Given the description of an element on the screen output the (x, y) to click on. 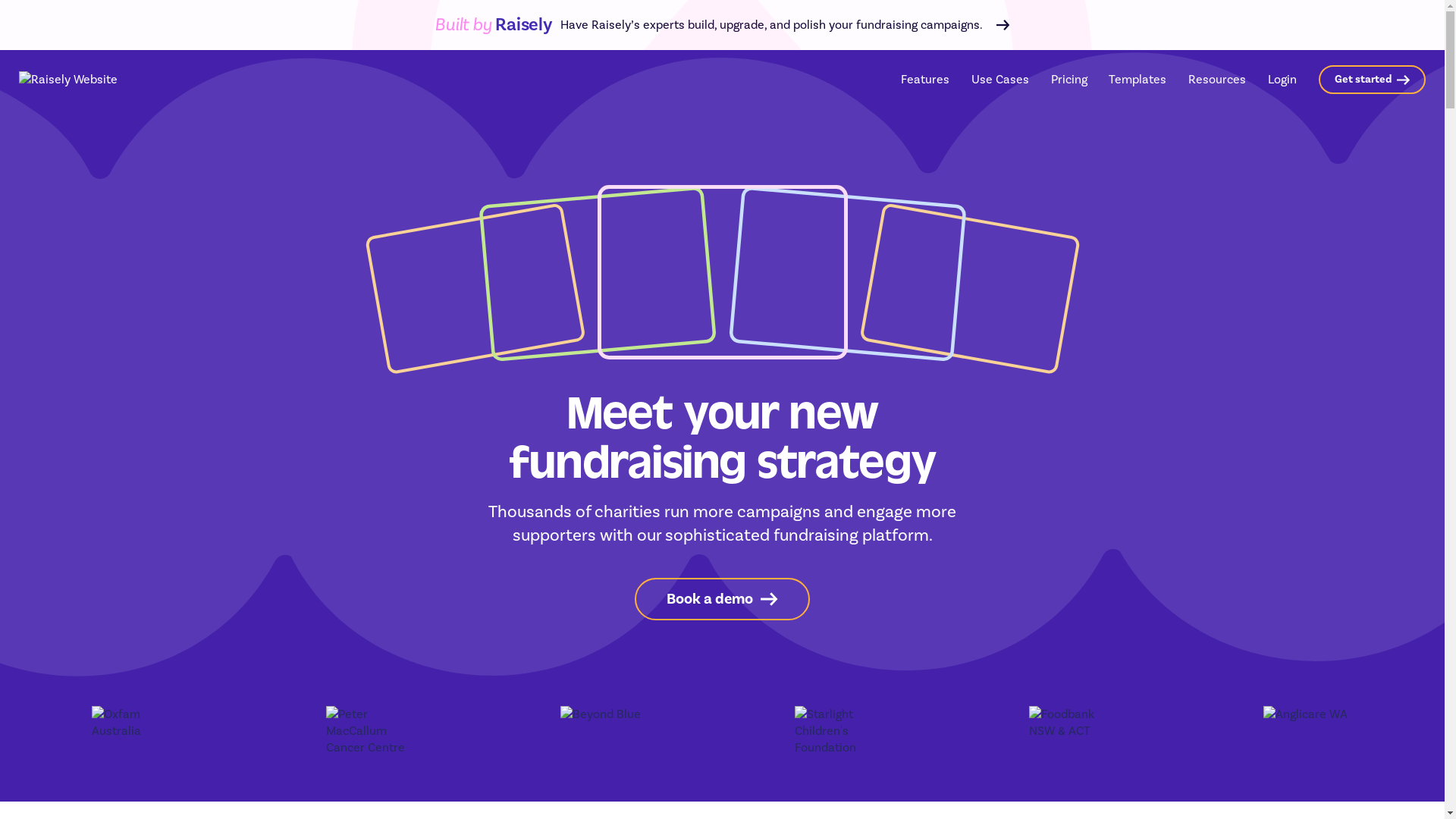
Login Element type: text (1281, 79)
Features Element type: text (924, 79)
Get started Element type: text (1371, 79)
Pricing Element type: text (1069, 79)
Resources Element type: text (1216, 79)
Templates Element type: text (1137, 79)
Book a demo Element type: text (721, 598)
Use Cases Element type: text (1000, 79)
